Given the description of an element on the screen output the (x, y) to click on. 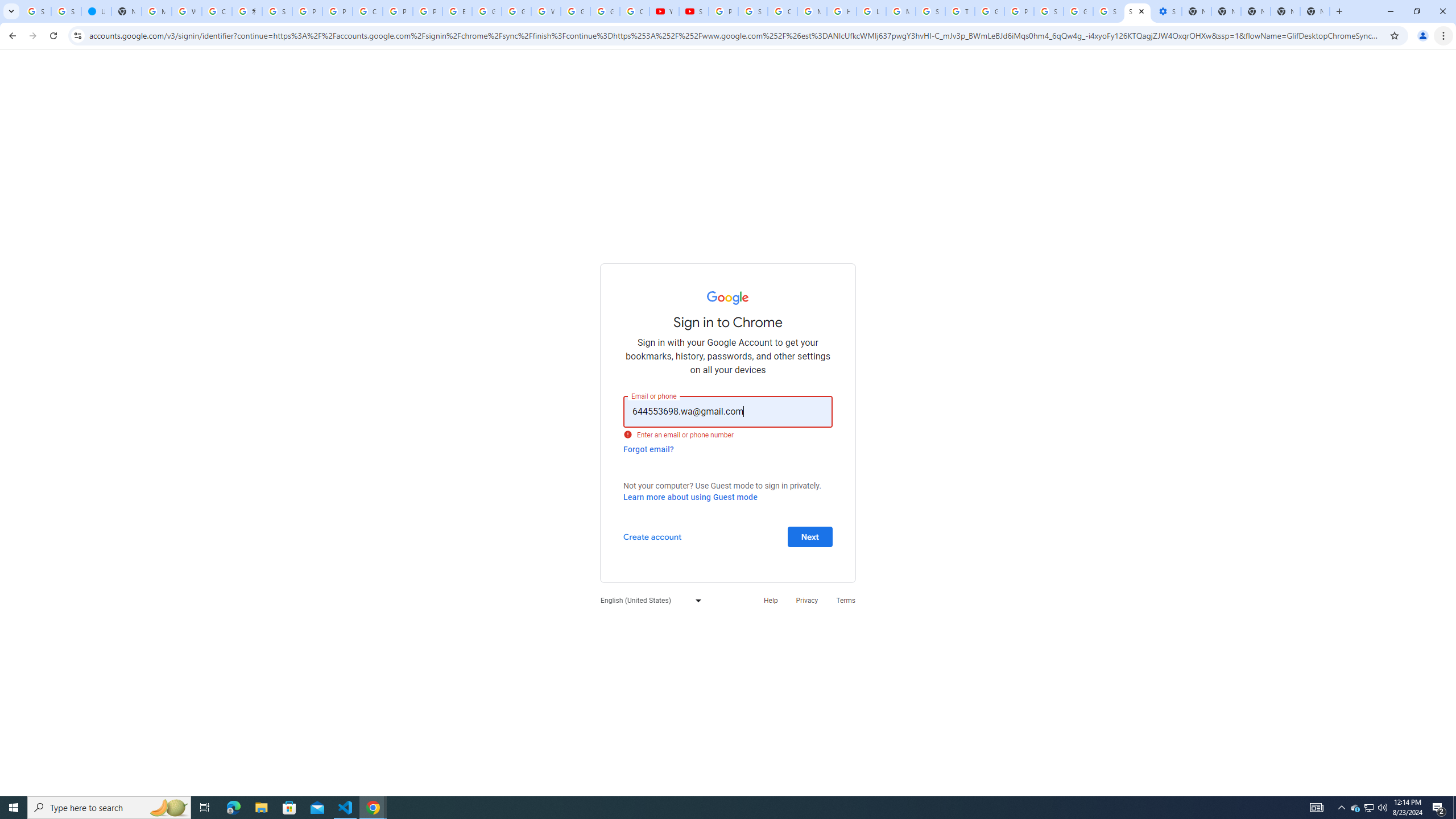
Search our Doodle Library Collection - Google Doodles (930, 11)
Subscriptions - YouTube (693, 11)
New Tab (1314, 11)
Sign in - Google Accounts (753, 11)
Next (809, 536)
Create your Google Account (216, 11)
English (United States) (647, 600)
Trusted Information and Content - Google Safety Center (959, 11)
